Given the description of an element on the screen output the (x, y) to click on. 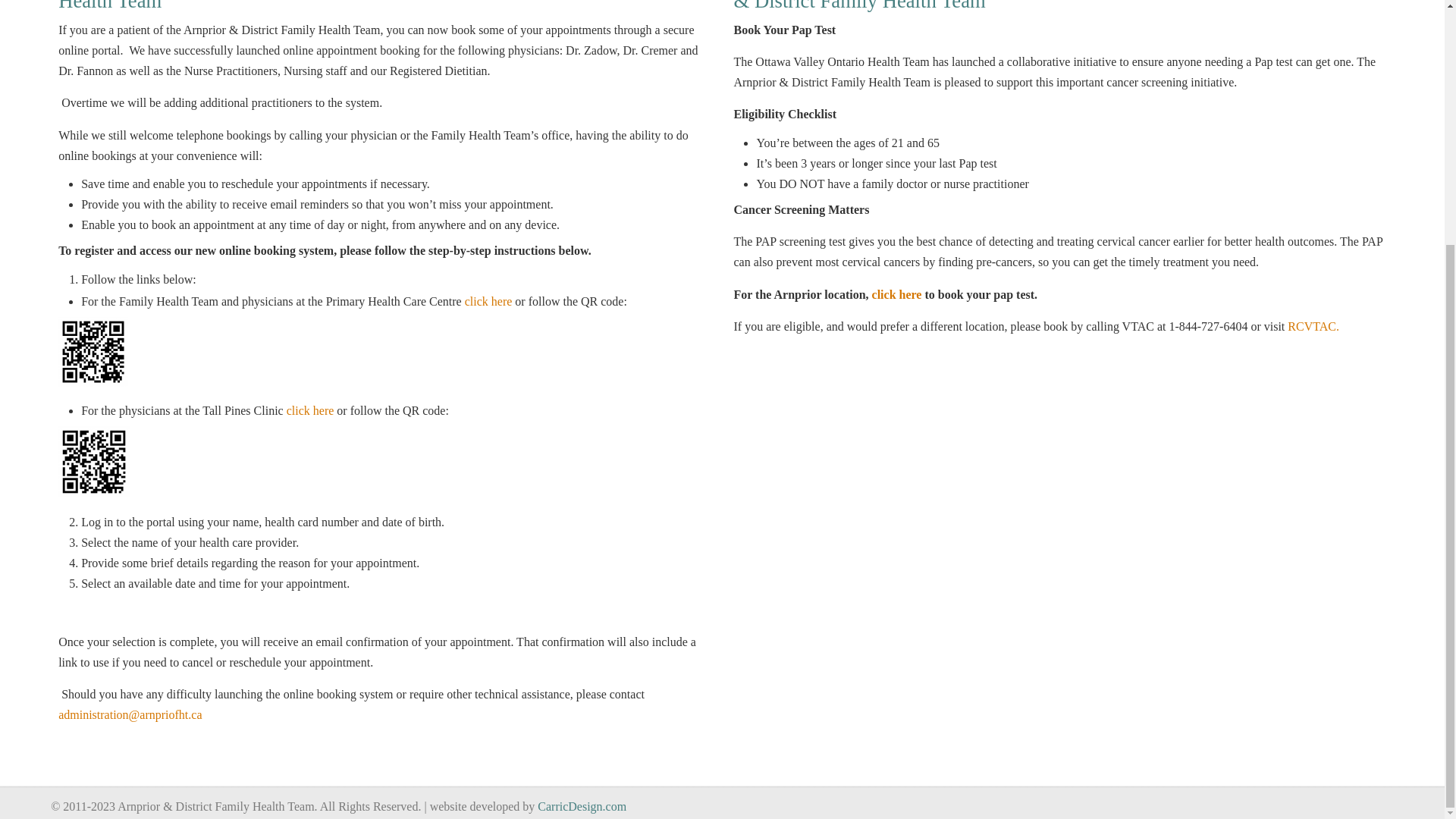
click here (310, 410)
click here (896, 294)
click here (488, 300)
CarricDesign.com (581, 806)
RCVTAC. (1313, 326)
